Given the description of an element on the screen output the (x, y) to click on. 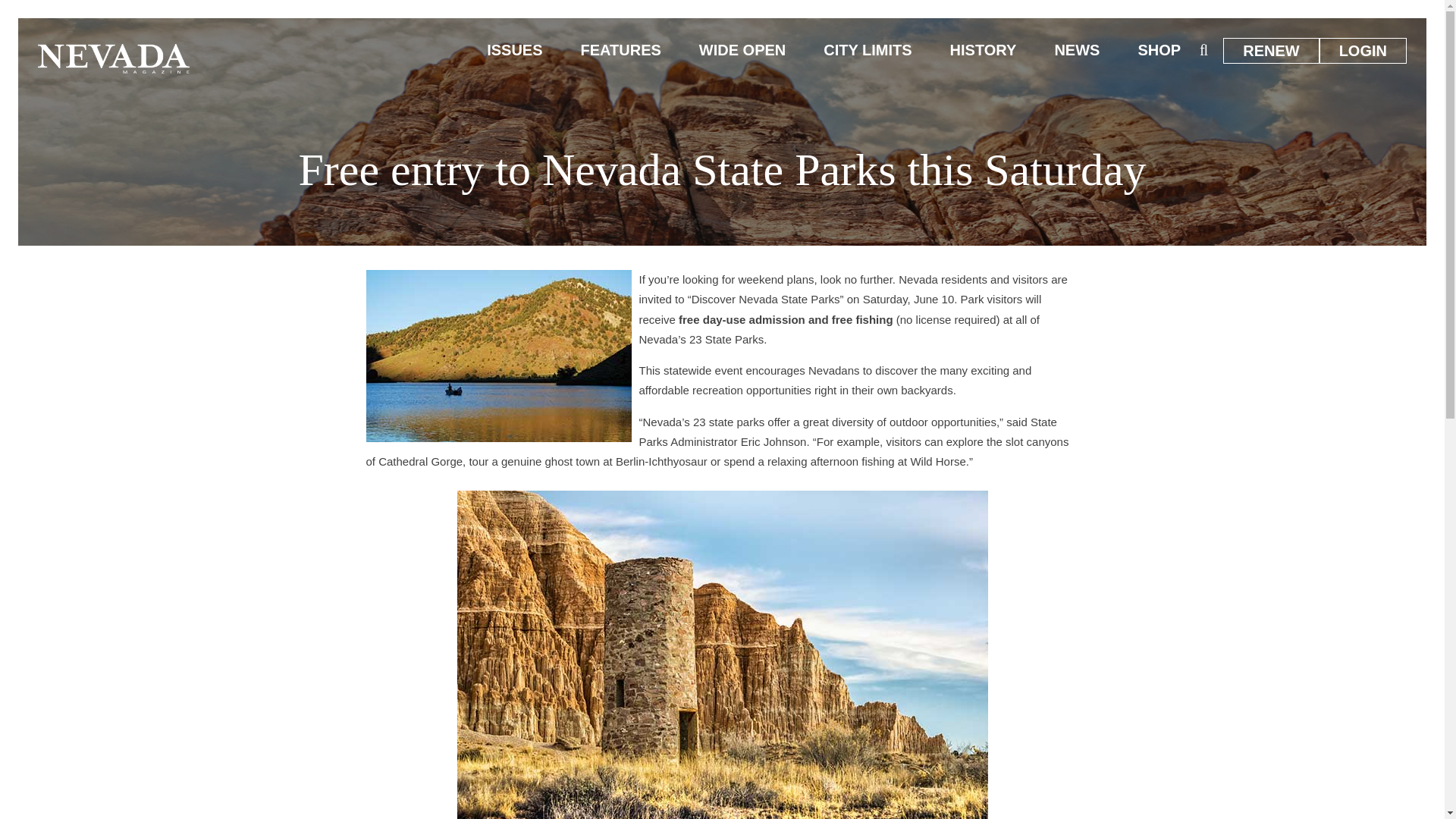
RENEW (1270, 50)
CITY LIMITS (867, 49)
ISSUES (513, 49)
SHOP (1158, 49)
LOGIN (1363, 50)
Nevada Magazine (113, 58)
WIDE OPEN (742, 49)
HISTORY (983, 49)
FEATURES (620, 49)
NEWS (1076, 49)
